Given the description of an element on the screen output the (x, y) to click on. 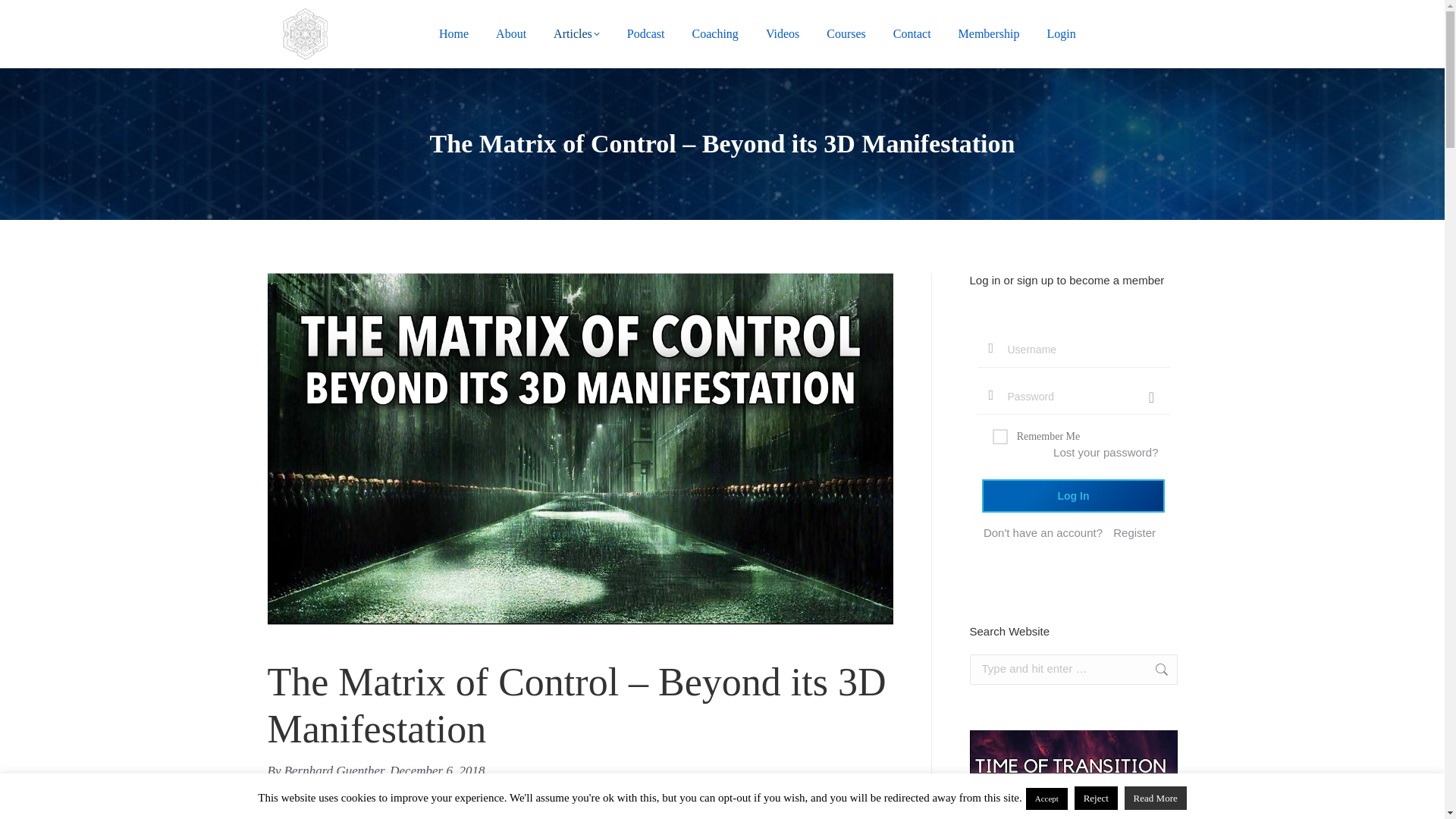
Go! (1153, 669)
Home (453, 33)
Podcast (646, 33)
Membership (989, 33)
About (511, 33)
Articles (576, 33)
forever (999, 436)
Coaching (714, 33)
Go! (1153, 669)
Contact (911, 33)
Login (1060, 33)
Log In (1072, 495)
Go! (24, 16)
Courses (846, 33)
